Given the description of an element on the screen output the (x, y) to click on. 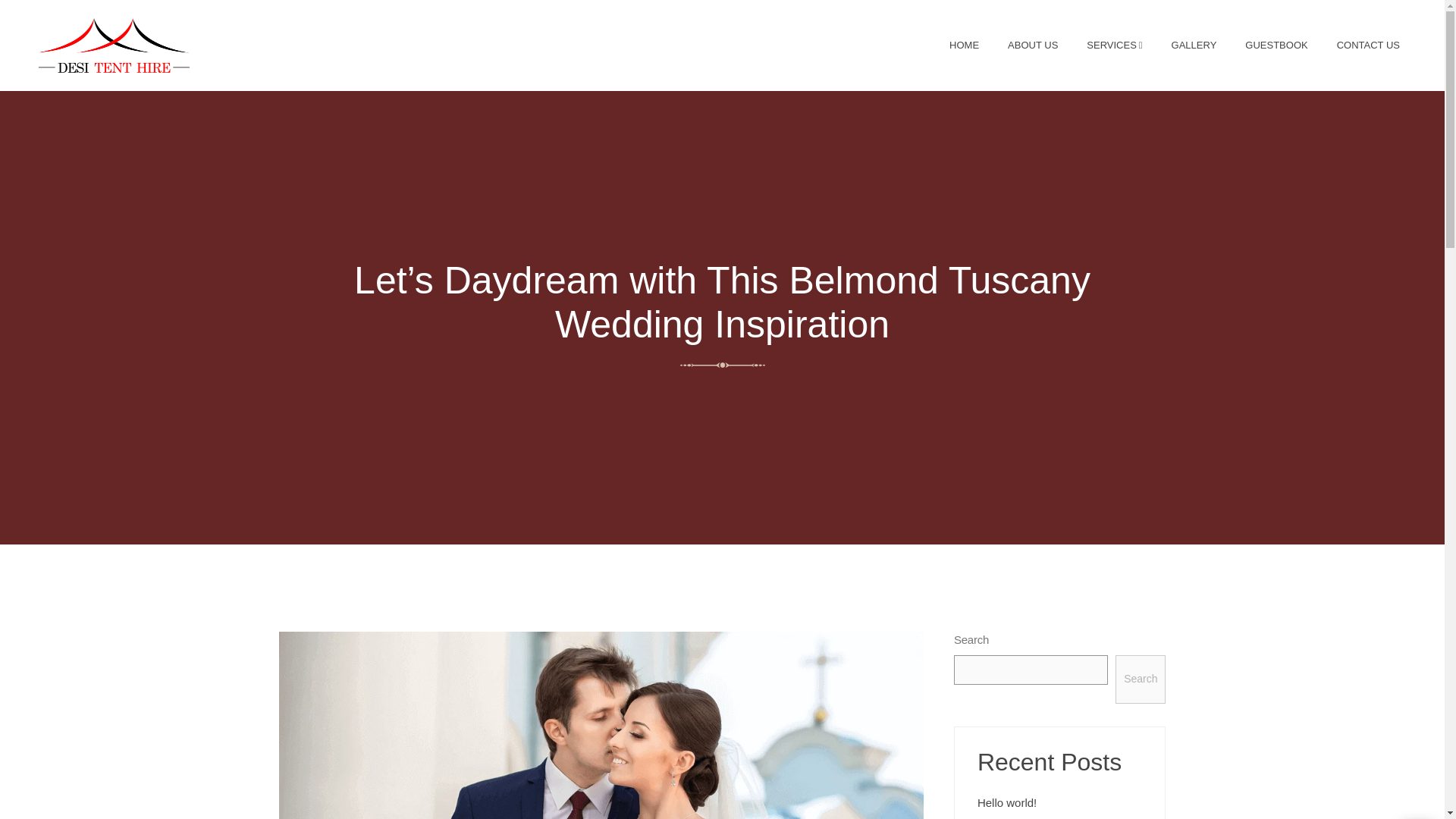
ABOUT US (1031, 45)
Hello world! (1006, 800)
Search (1140, 679)
GUESTBOOK (1276, 45)
GALLERY (1194, 45)
CONTACT US (1367, 45)
HOME (963, 45)
SERVICES (1113, 45)
